Given the description of an element on the screen output the (x, y) to click on. 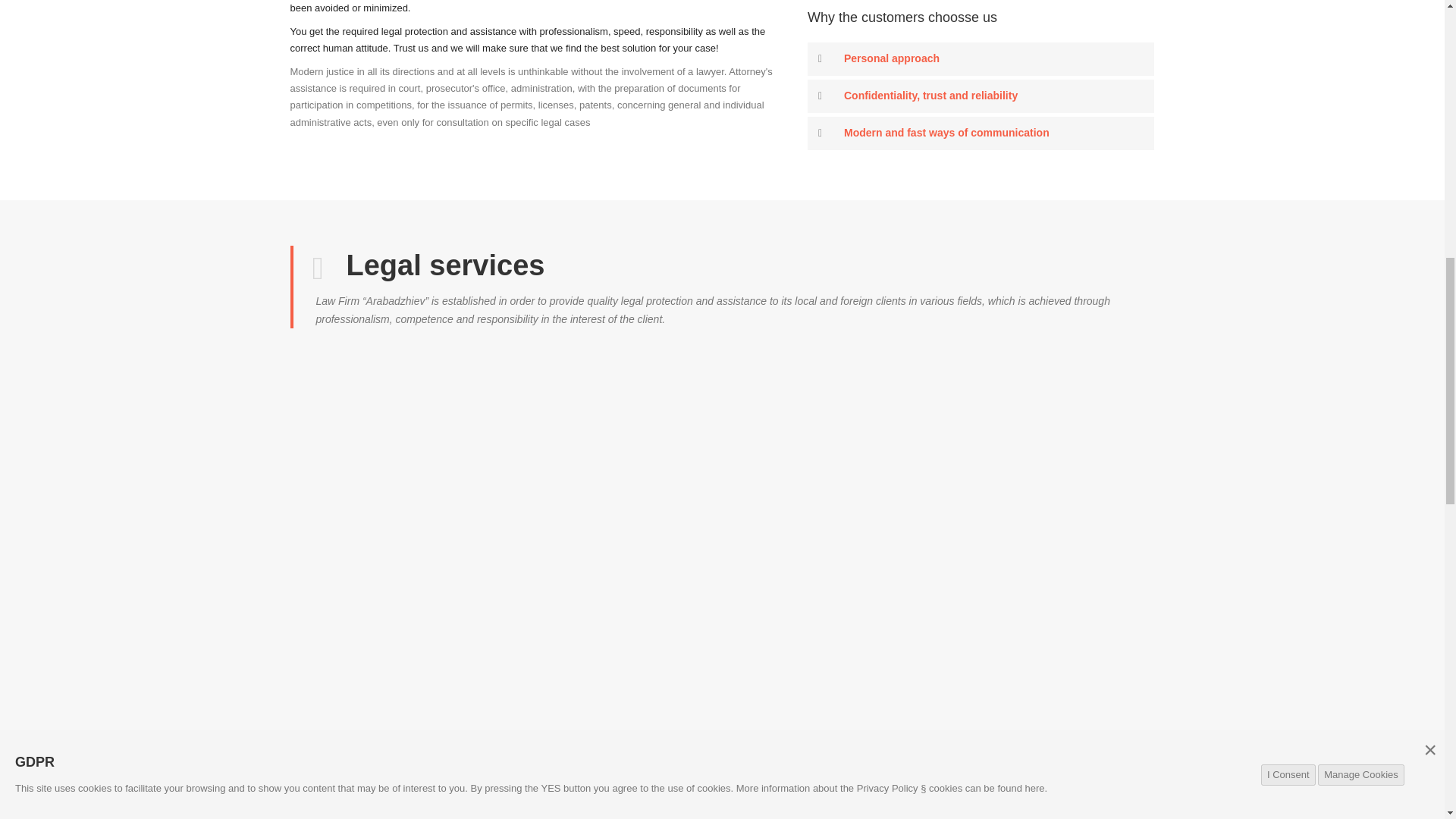
Personal approach (981, 207)
